Given the description of an element on the screen output the (x, y) to click on. 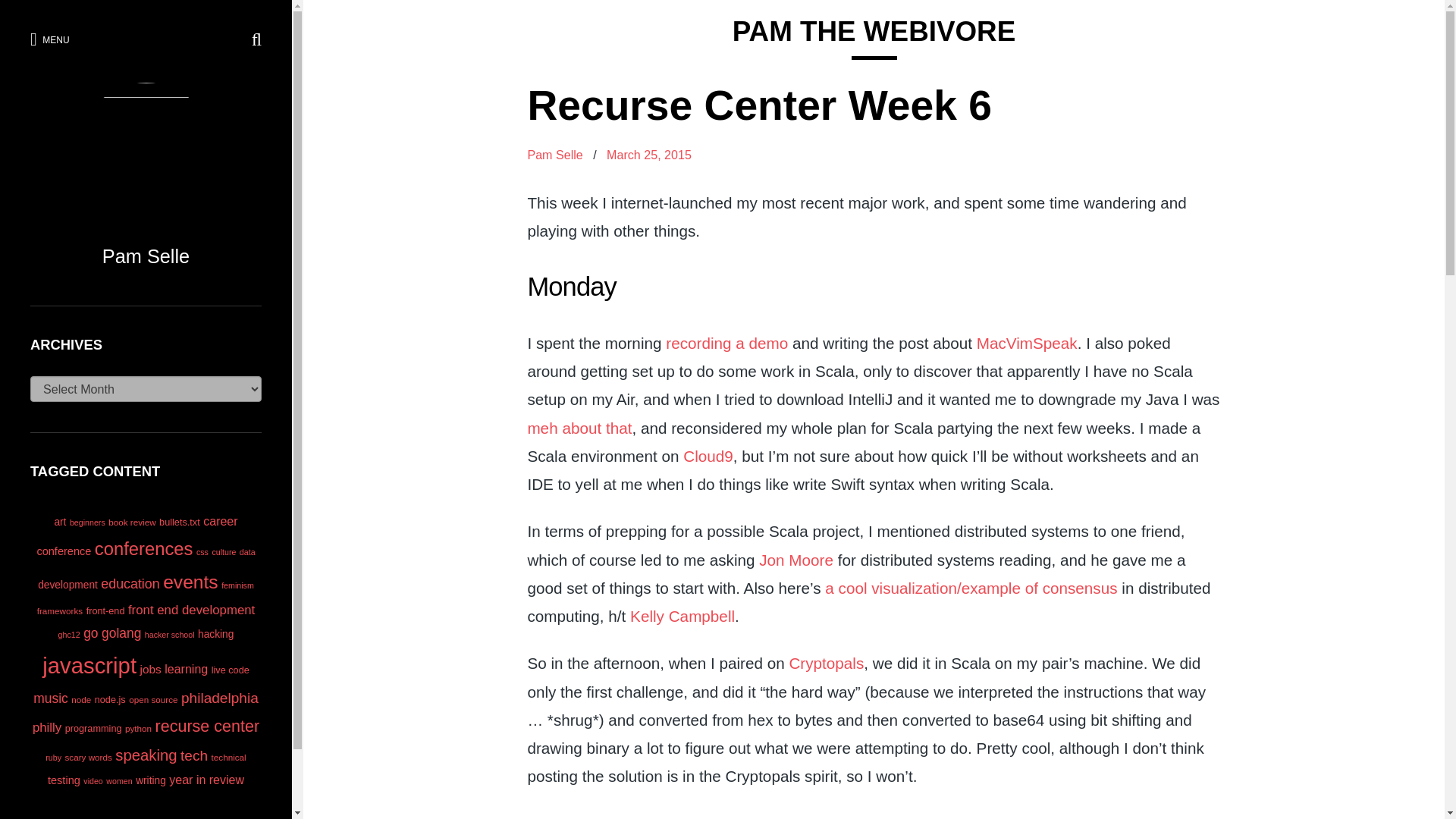
book review (131, 521)
bullets.txt (179, 521)
Jon Moore (795, 559)
Pam Selle (554, 154)
events (190, 581)
feminism (237, 584)
art (59, 521)
MacVimSpeak (1026, 343)
Pam The Webivore (873, 30)
